Given the description of an element on the screen output the (x, y) to click on. 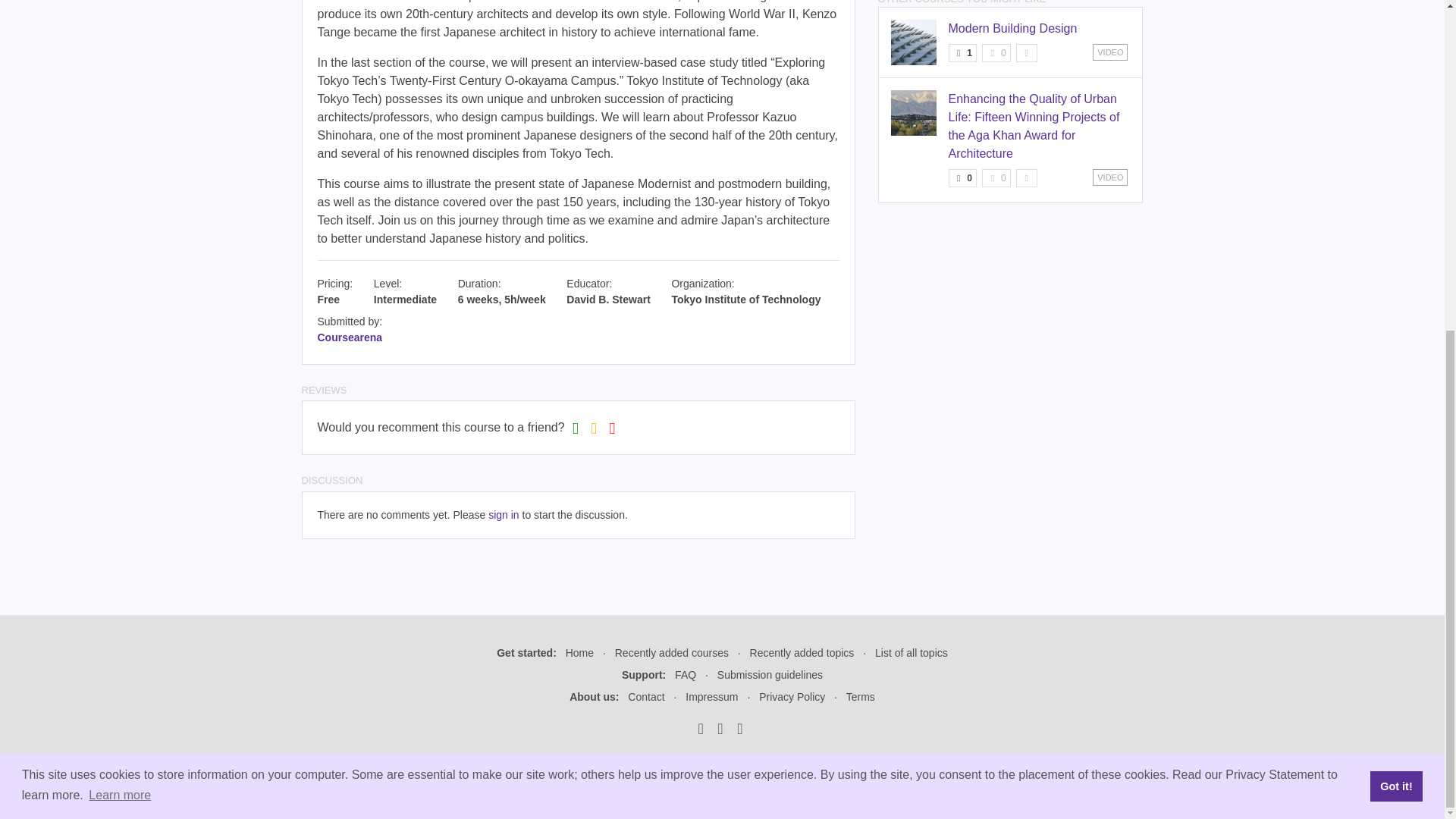
1 Upvotes (961, 53)
0 (995, 177)
Submission guidelines (769, 674)
Privacy Policy (791, 696)
FAQ (685, 674)
0 (995, 53)
List of all topics (911, 653)
0 comments (995, 177)
Bookmark this course (1026, 177)
Learn more (118, 246)
0 Upvotes (961, 177)
Terms (860, 696)
Modern Building Design (1012, 28)
Recently added topics (801, 653)
